Given the description of an element on the screen output the (x, y) to click on. 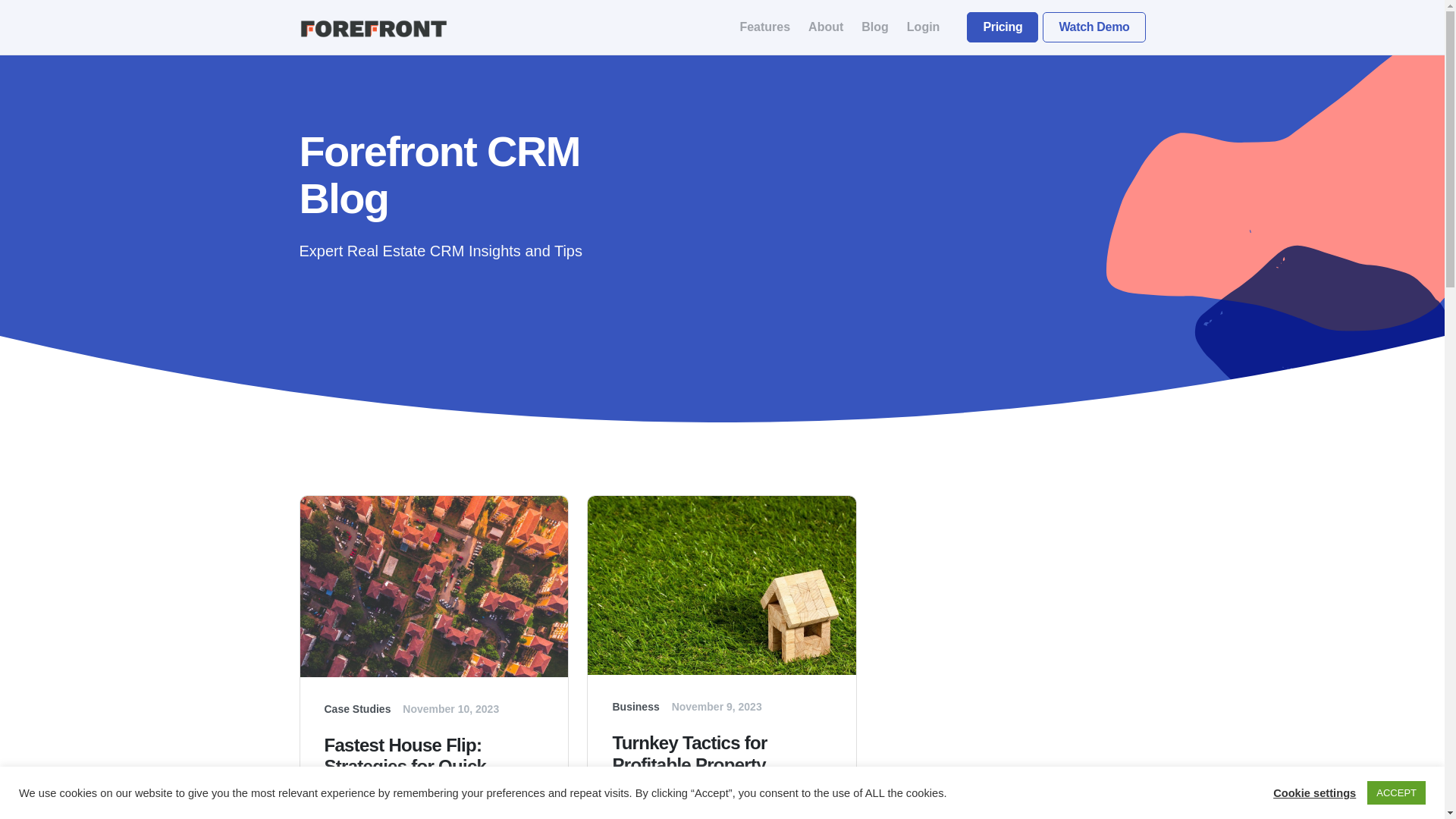
Blog (874, 27)
Fastest House Flip: Strategies for Quick Turnarounds (434, 776)
About (825, 27)
Features (764, 27)
Login (923, 27)
Pricing (1002, 27)
Features (764, 27)
About (825, 27)
Blog (874, 27)
ACCEPT (1396, 792)
Watch Demo (1093, 27)
Login (923, 27)
Cookie settings (1313, 792)
